Given the description of an element on the screen output the (x, y) to click on. 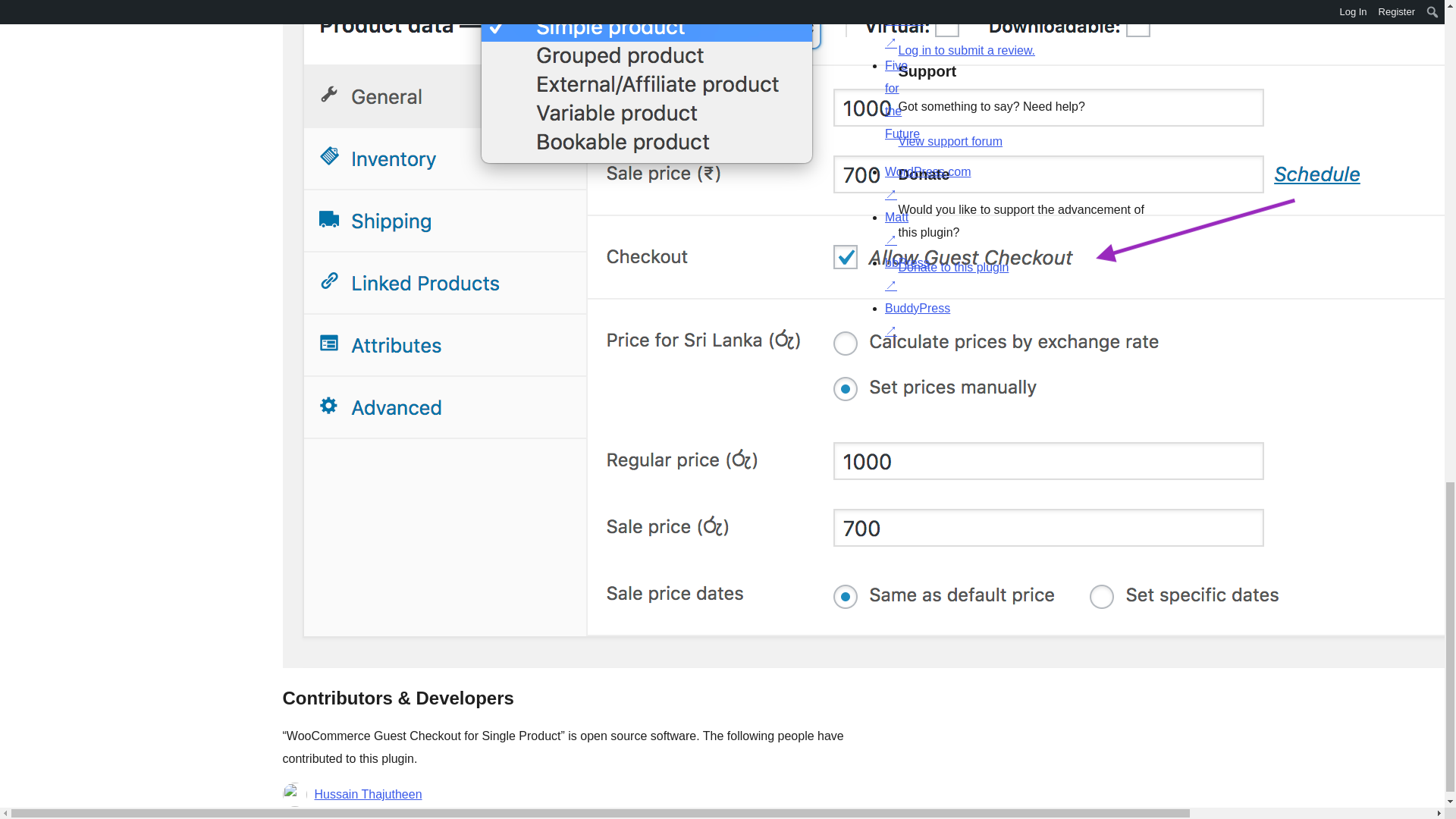
WordPress.org (864, 362)
Log in to WordPress.org (966, 50)
WordPress.org (1014, 362)
